Given the description of an element on the screen output the (x, y) to click on. 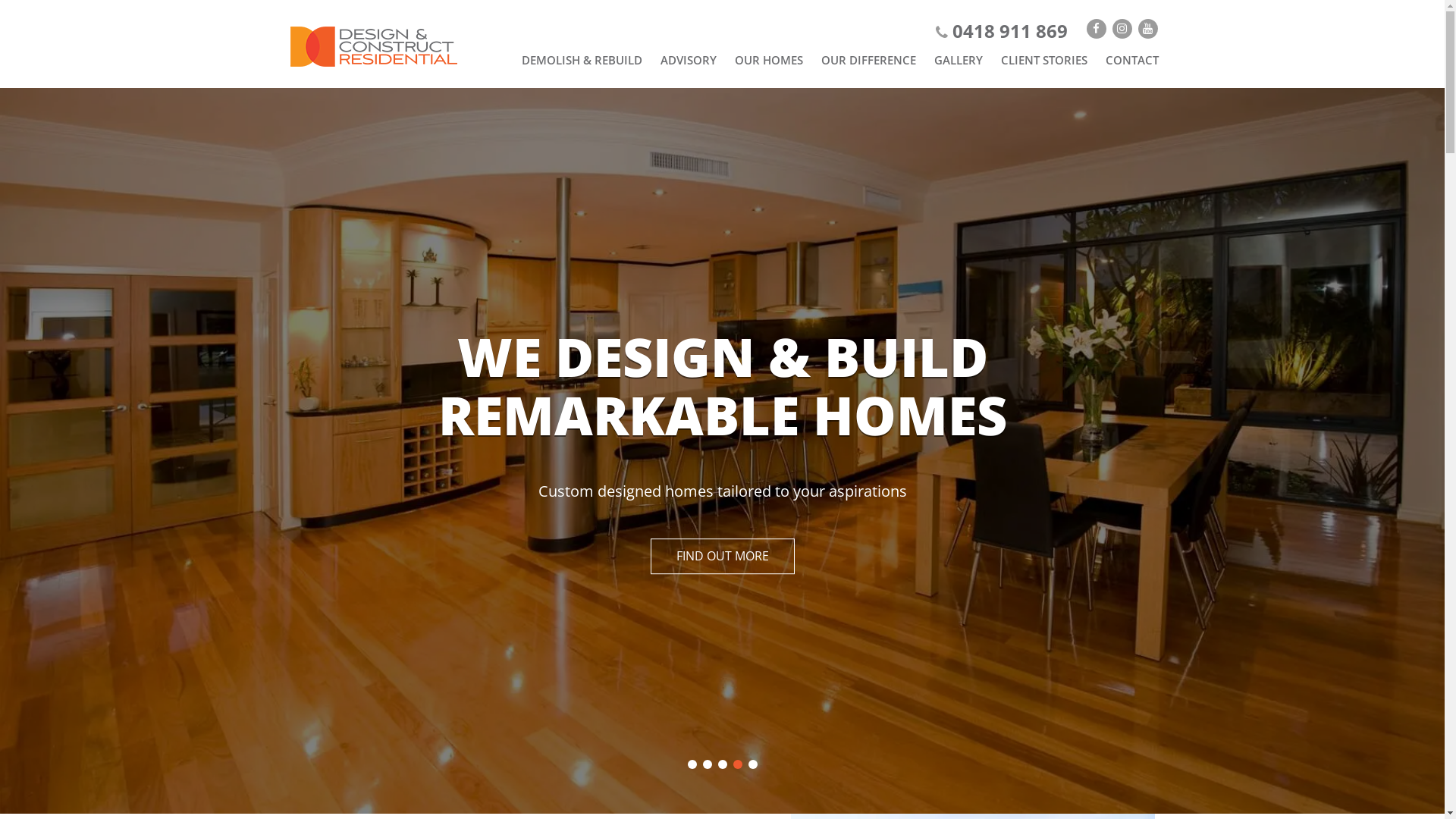
5 Element type: text (751, 763)
instagram Element type: text (1121, 28)
youtube Element type: text (1147, 28)
OUR DIFFERENCE Element type: text (867, 59)
4 Element type: text (736, 763)
FIND OUT MORE Element type: text (722, 556)
ADVISORY Element type: text (687, 59)
3 Element type: text (721, 763)
GALLERY Element type: text (958, 59)
0418 911 869 Element type: text (1001, 30)
CLIENT STORIES Element type: text (1044, 59)
facebook Element type: text (1095, 28)
CONTACT Element type: text (1131, 59)
2 Element type: text (706, 763)
1 Element type: text (691, 763)
OUR HOMES Element type: text (768, 59)
DEMOLISH & REBUILD Element type: text (581, 59)
